Given the description of an element on the screen output the (x, y) to click on. 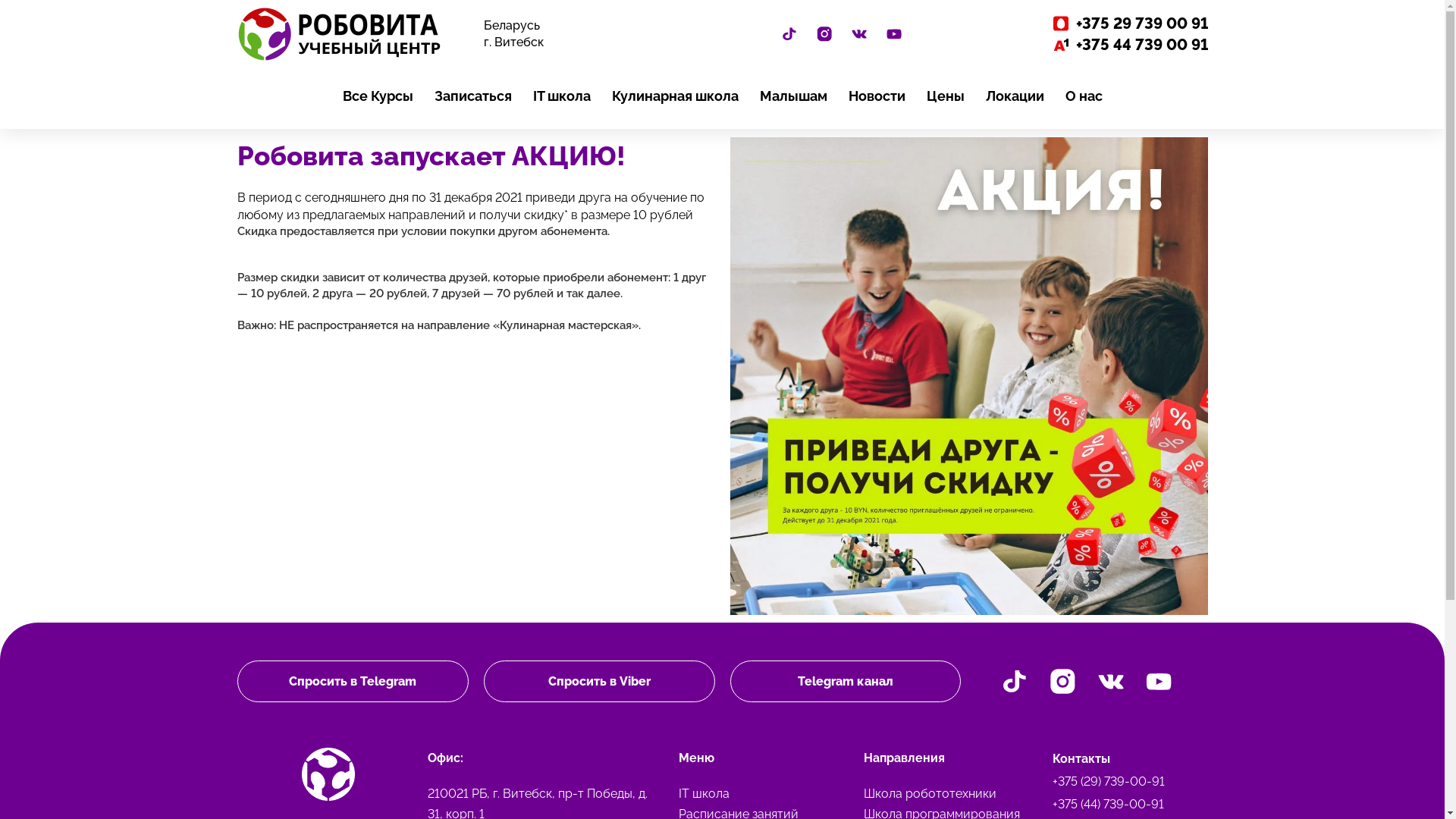
+375 29 739 00 91 Element type: text (1092, 23)
+375 (44) 739-00-91 Element type: text (1125, 804)
+375 (29) 739-00-91 Element type: text (1125, 781)
+375 44 739 00 91 Element type: text (1092, 44)
